Given the description of an element on the screen output the (x, y) to click on. 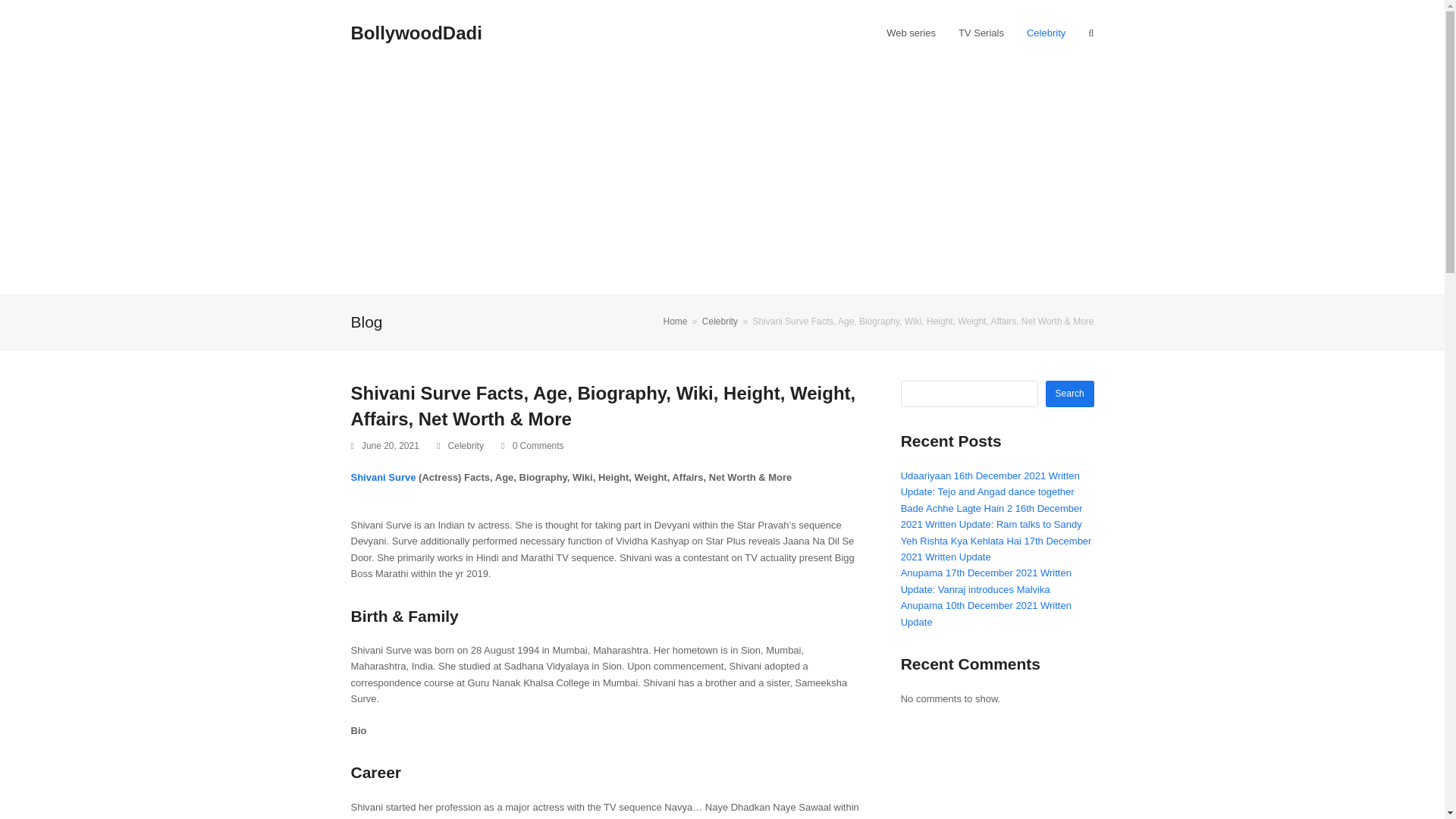
Web series (911, 33)
Home (675, 321)
0 Comments (538, 445)
Anupama 10th December 2021 Written Update (986, 613)
BollywoodDadi (415, 32)
Shivani Surve (384, 477)
Yeh Rishta Kya Kehlata Hai 17th December 2021 Written Update (996, 548)
Search (1069, 393)
0 Comments (531, 446)
Celebrity (1045, 33)
Celebrity (719, 321)
